Given the description of an element on the screen output the (x, y) to click on. 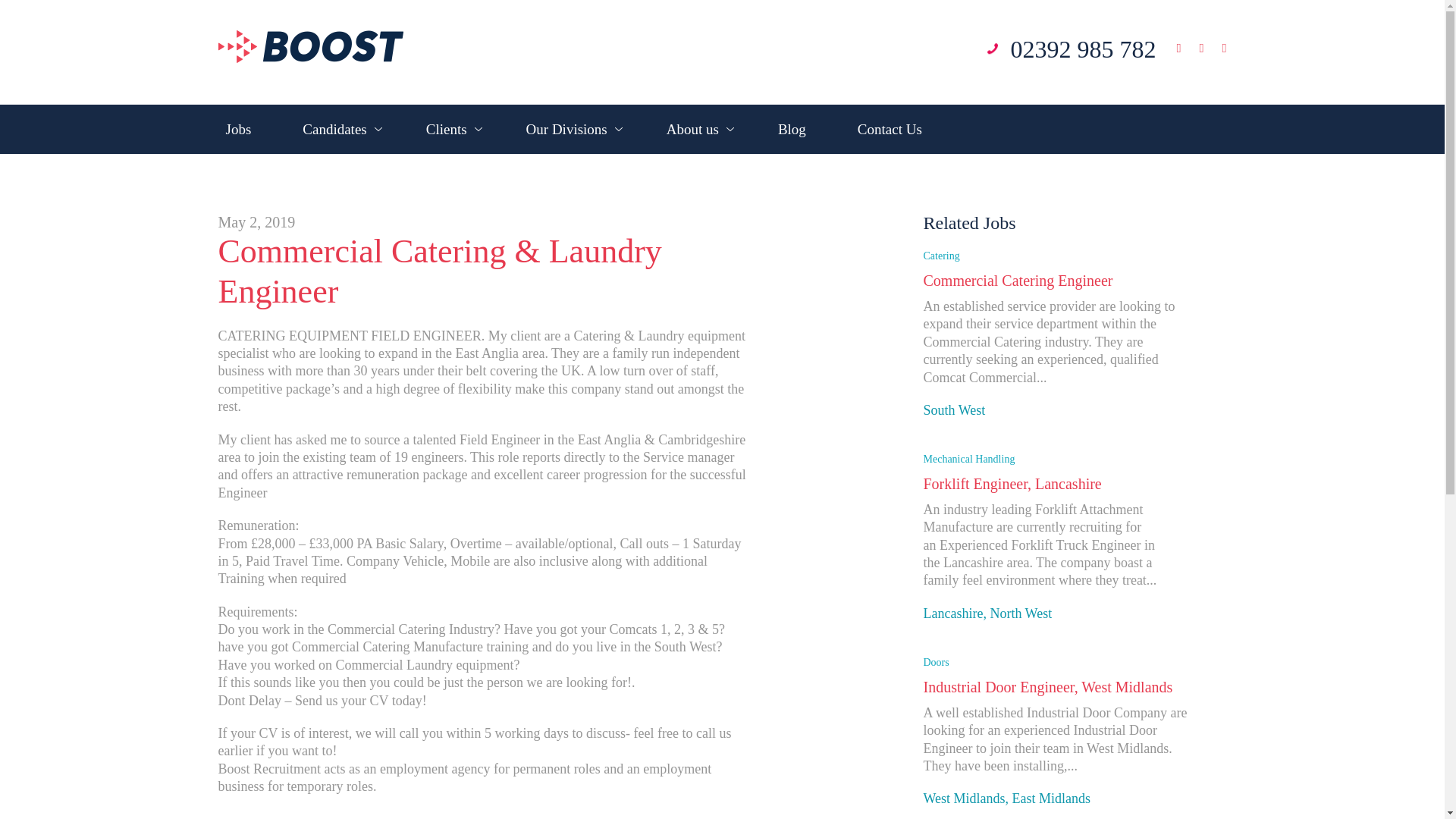
02392 985 782 (1083, 49)
Boost Recruitment (311, 47)
Boost Recruitment (311, 57)
